Given the description of an element on the screen output the (x, y) to click on. 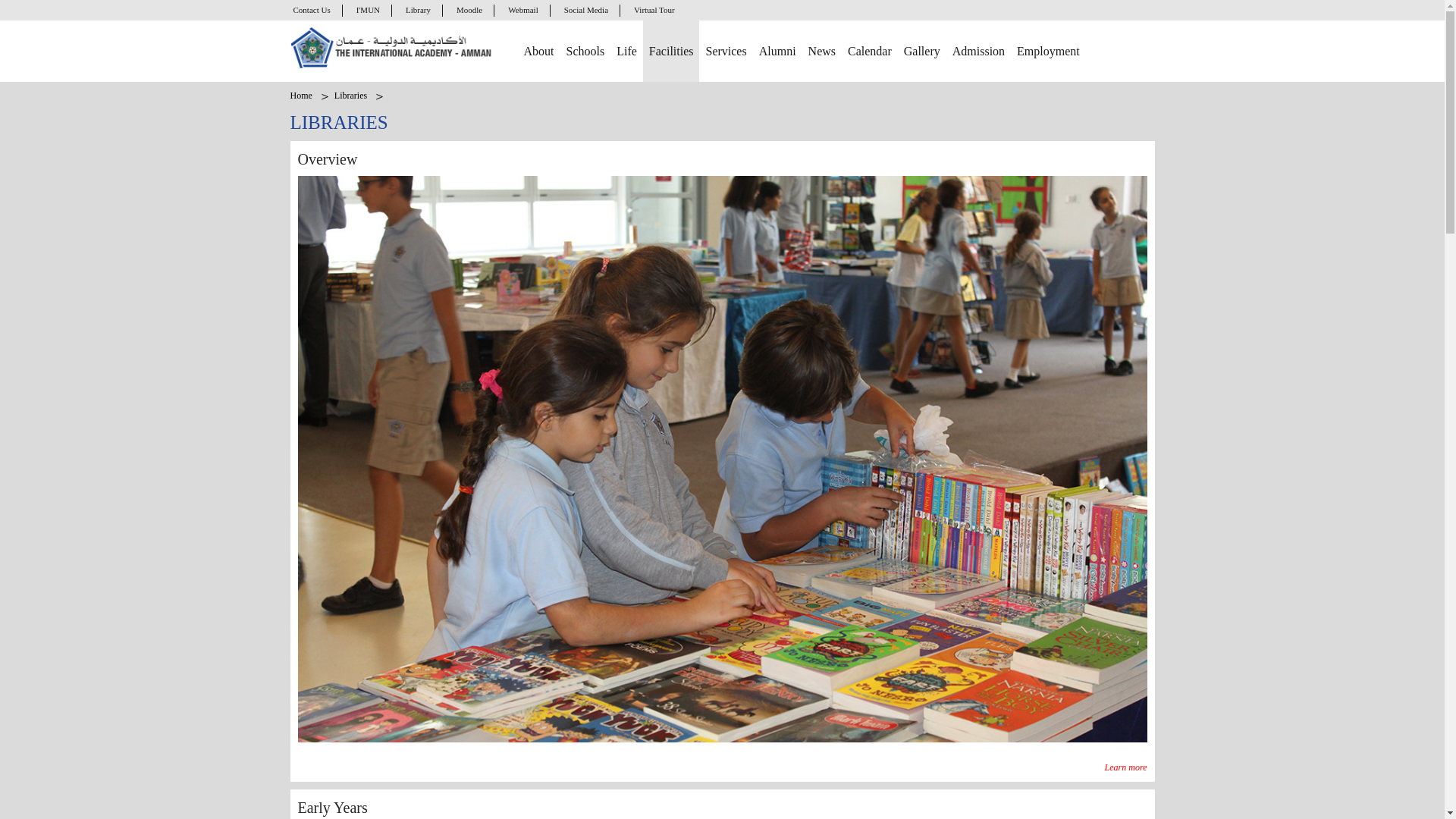
Library (418, 10)
Webmail (523, 10)
Virtual Tour (654, 10)
Home (392, 46)
I'MUN (368, 10)
Contact Us (312, 10)
Moodle (470, 10)
Social Media (586, 10)
